Given the description of an element on the screen output the (x, y) to click on. 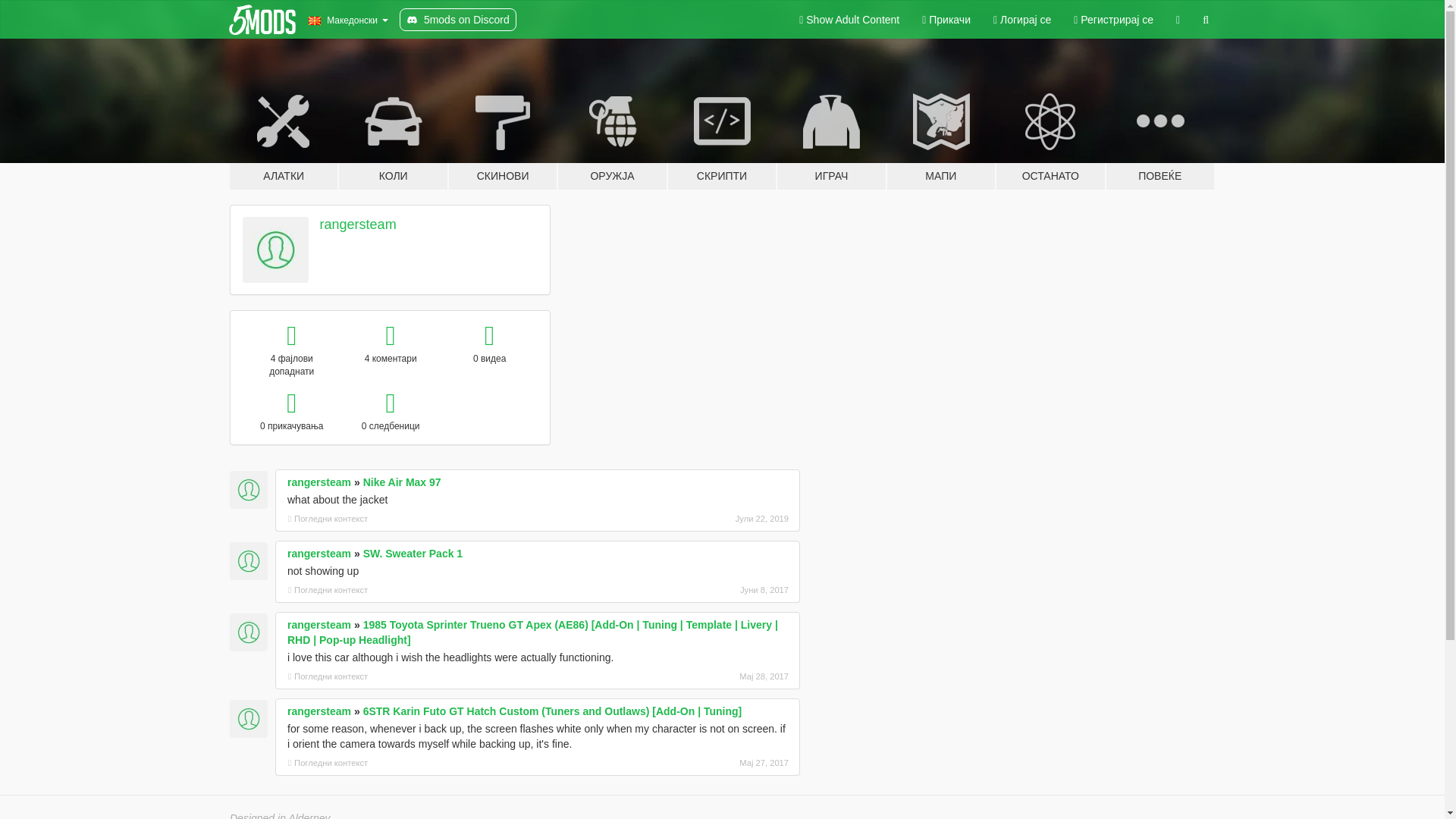
5mods on Discord (457, 19)
Show Adult Content (849, 19)
Light mode (849, 19)
